Given the description of an element on the screen output the (x, y) to click on. 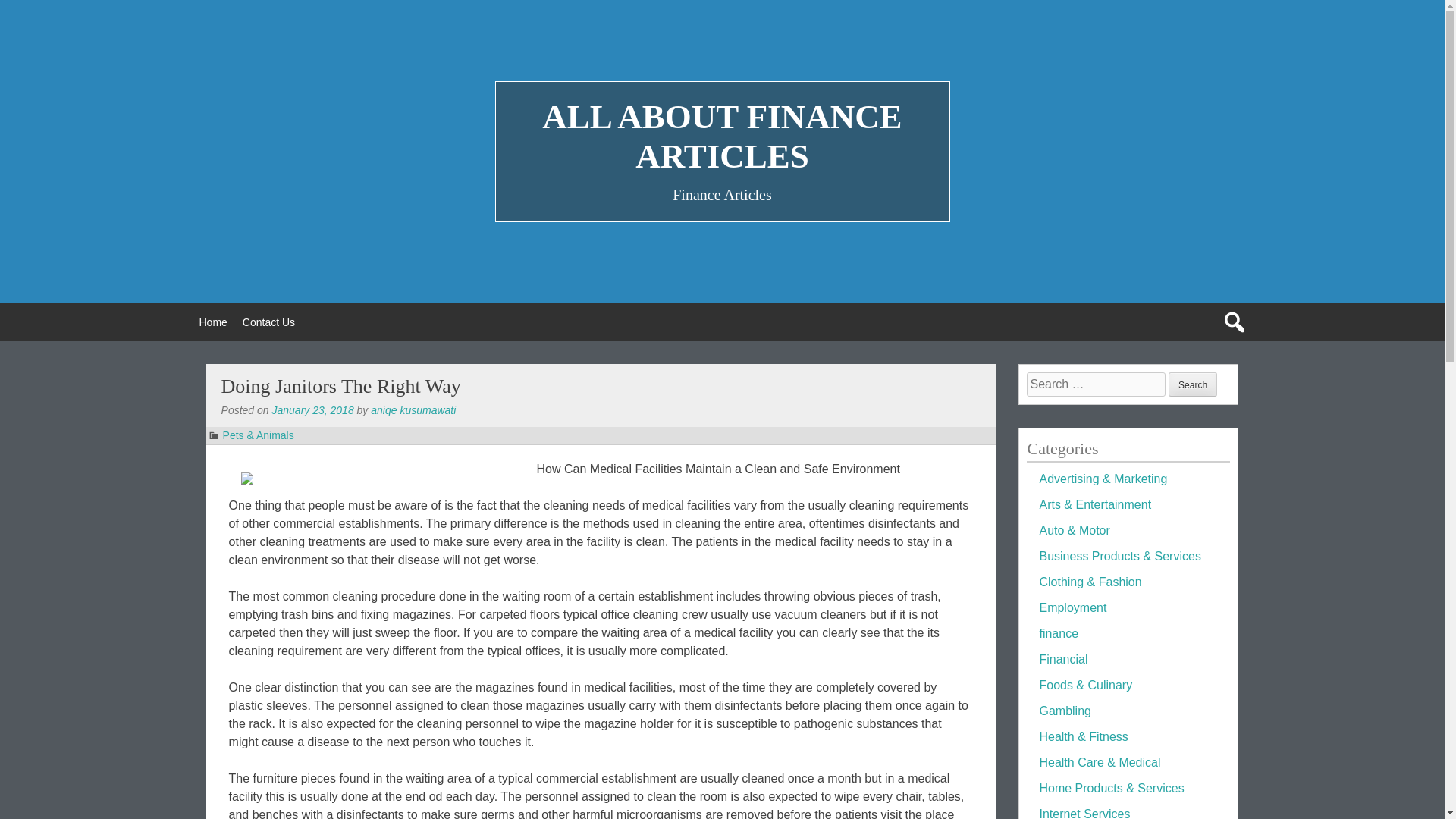
January 23, 2018 (311, 410)
Search (1193, 384)
Internet Services (1084, 813)
Gambling (1064, 710)
Search (1193, 384)
finance (1058, 633)
aniqe kusumawati (413, 410)
Employment (1072, 607)
ALL ABOUT FINANCE ARTICLES (721, 136)
Contact Us (268, 322)
